Given the description of an element on the screen output the (x, y) to click on. 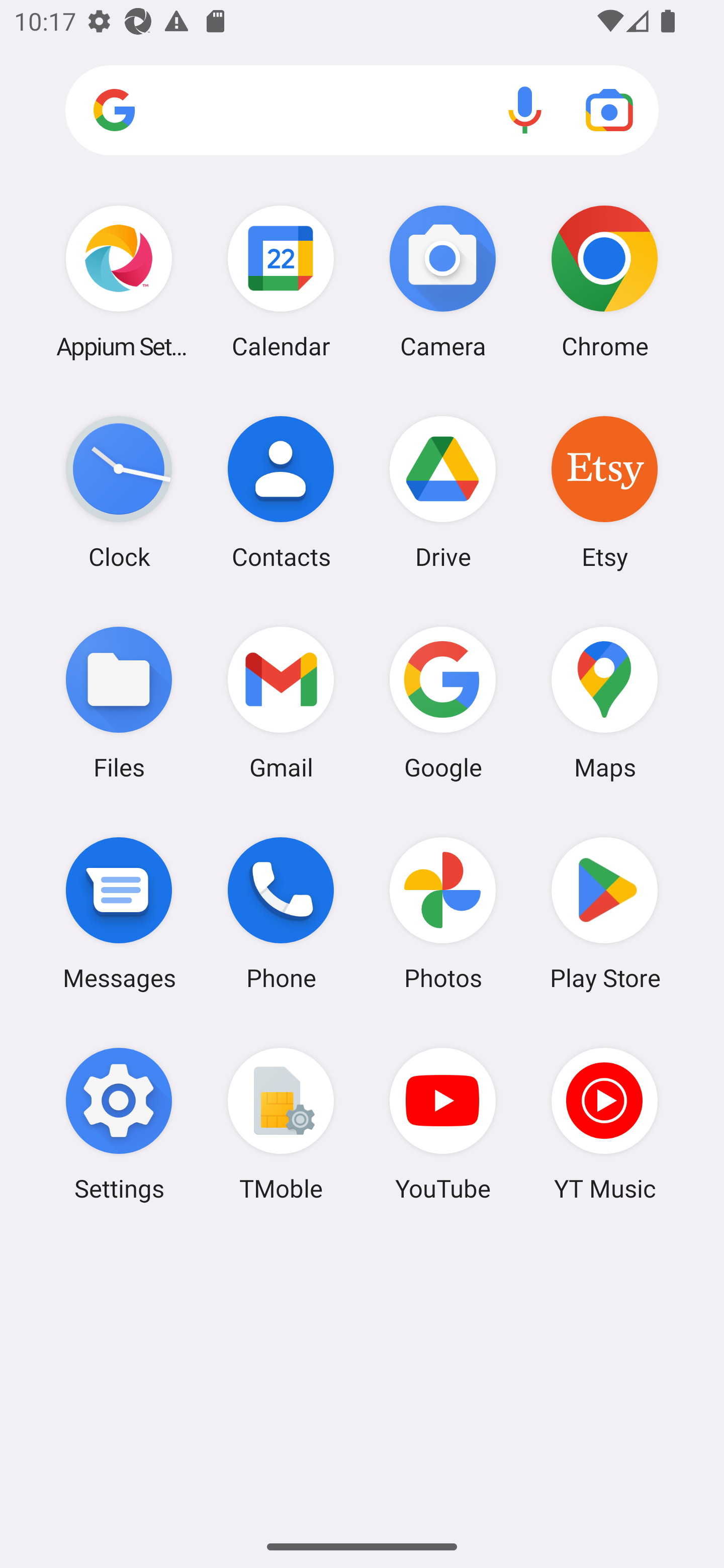
Search apps, web and more (361, 110)
Voice search (524, 109)
Google Lens (608, 109)
Appium Settings (118, 281)
Calendar (280, 281)
Camera (443, 281)
Chrome (604, 281)
Clock (118, 492)
Contacts (280, 492)
Drive (443, 492)
Etsy (604, 492)
Files (118, 702)
Gmail (280, 702)
Google (443, 702)
Maps (604, 702)
Messages (118, 913)
Phone (280, 913)
Photos (443, 913)
Play Store (604, 913)
Settings (118, 1124)
TMoble (280, 1124)
YouTube (443, 1124)
YT Music (604, 1124)
